Given the description of an element on the screen output the (x, y) to click on. 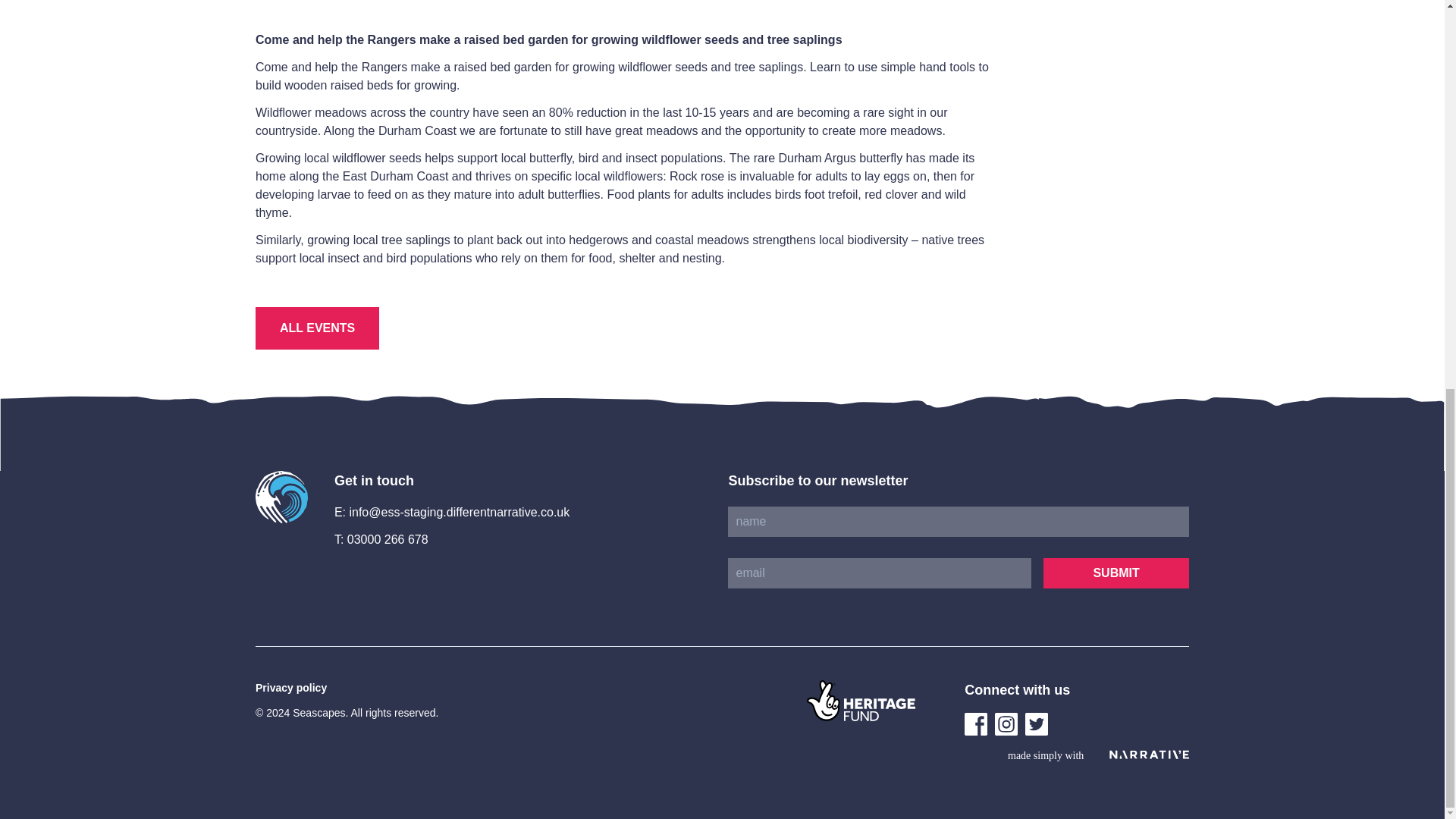
Privacy policy (291, 687)
ALL EVENTS (317, 328)
Submit (1116, 572)
Submit (1116, 572)
made simply with (1098, 754)
made simply with (1098, 754)
03000 266 678 (387, 539)
